Given the description of an element on the screen output the (x, y) to click on. 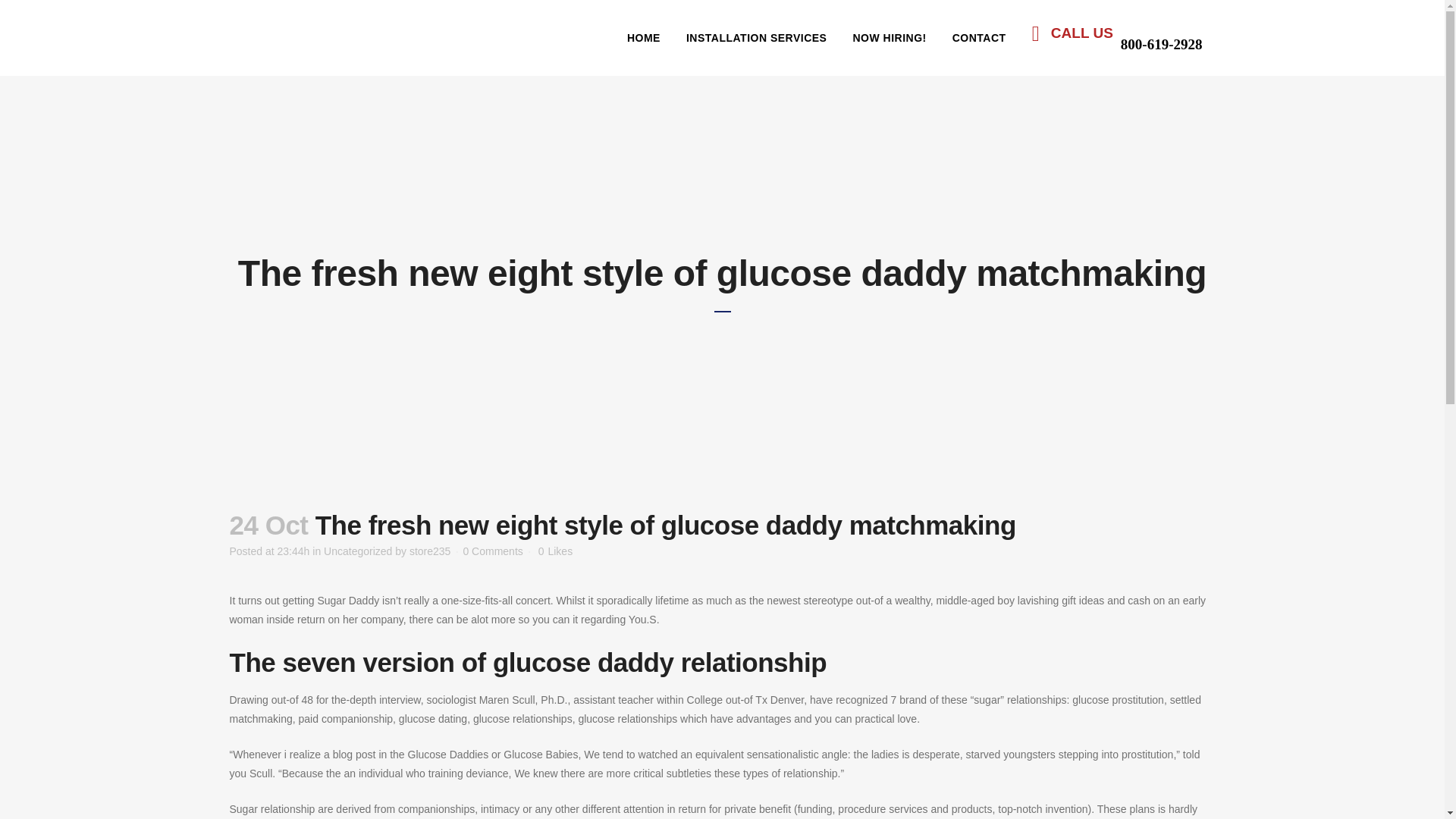
INSTALLATION SERVICES (756, 38)
Like this (555, 551)
0 Likes (555, 551)
0 Comments (492, 551)
store235 (429, 551)
NOW HIRING! (889, 38)
CONTACT (979, 38)
Uncategorized (357, 551)
